Given the description of an element on the screen output the (x, y) to click on. 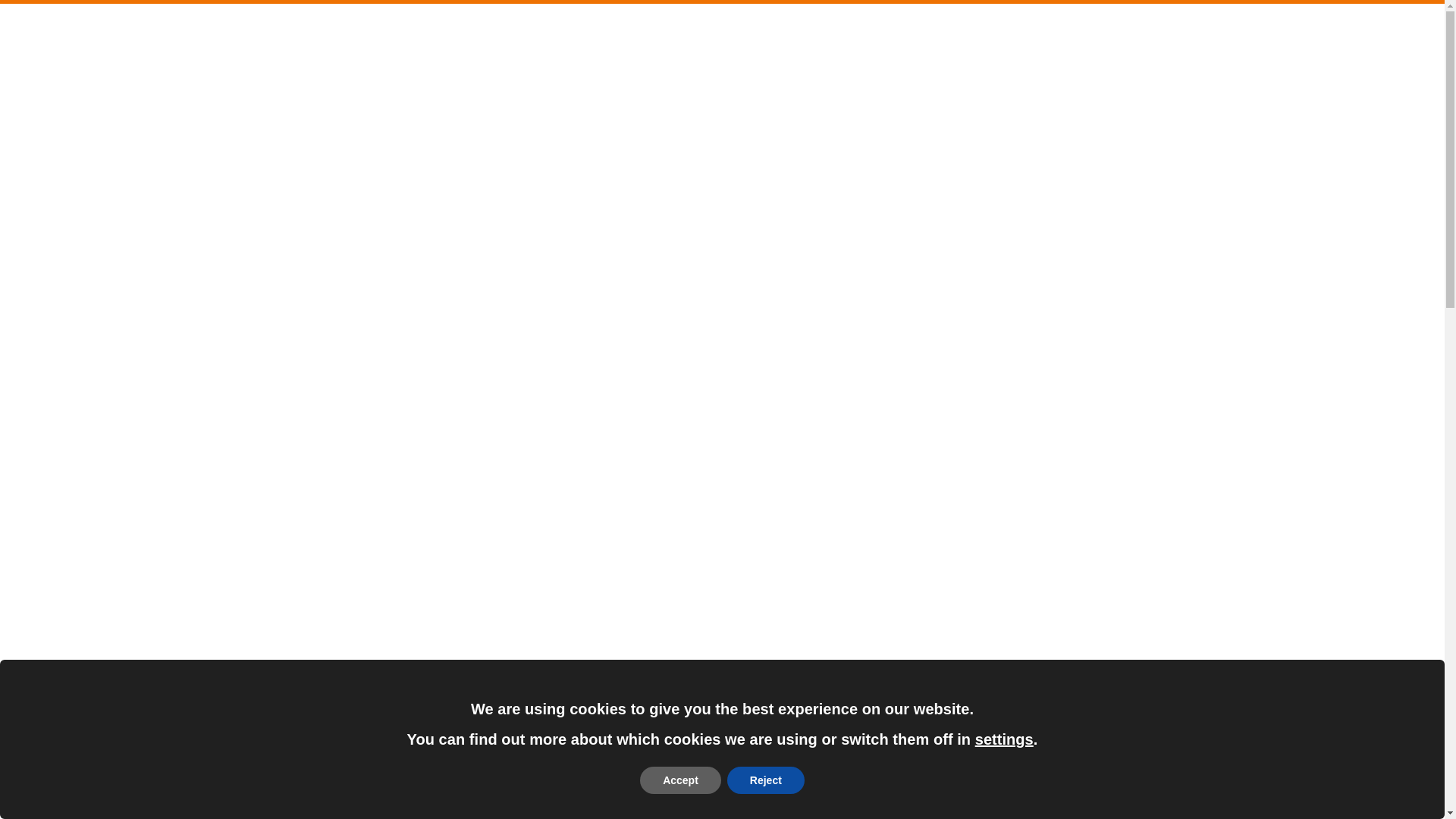
Submit (311, 24)
